Given the description of an element on the screen output the (x, y) to click on. 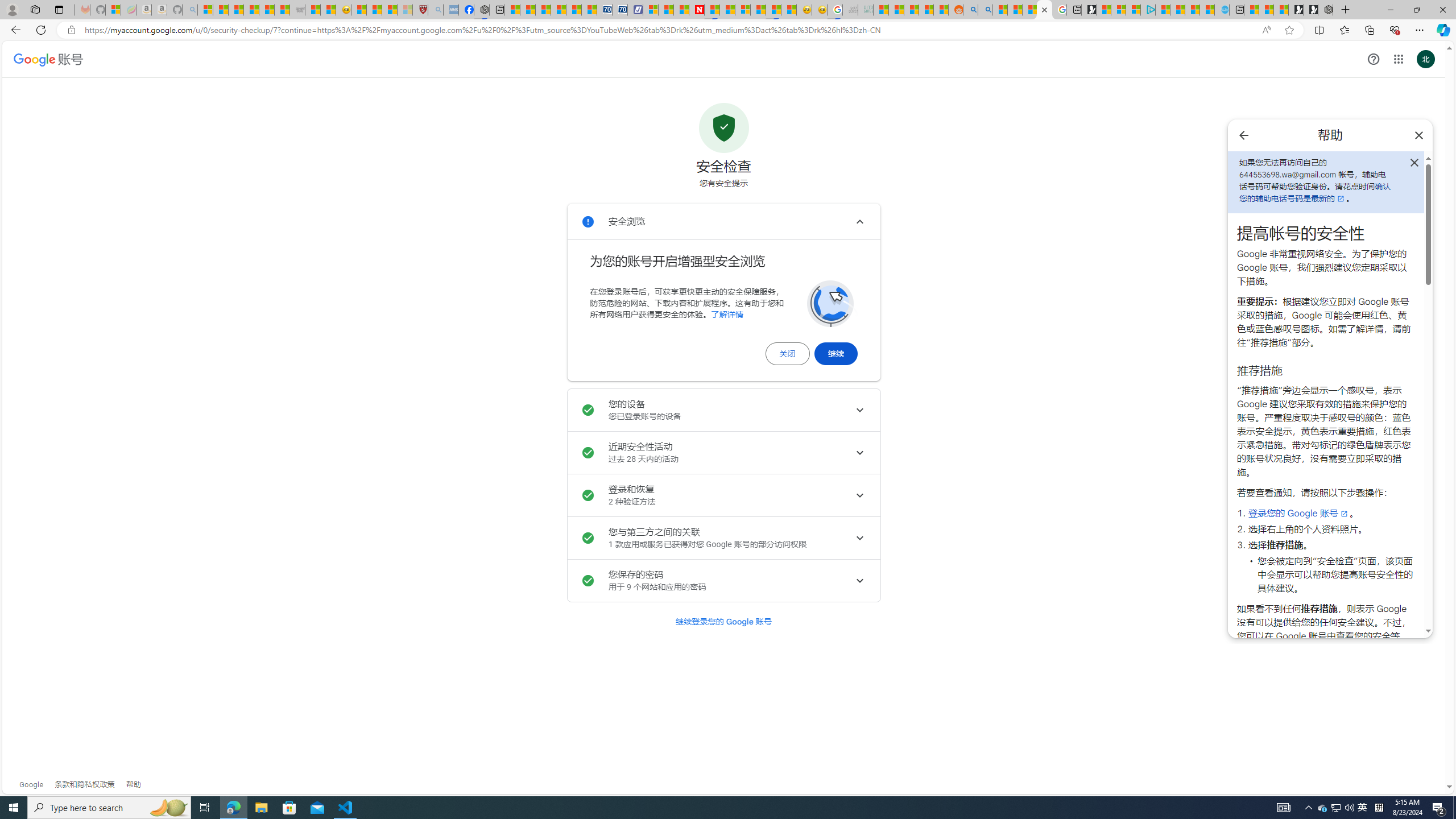
New Report Confirms 2023 Was Record Hot | Watch (266, 9)
Student Loan Update: Forgiveness Program Ends This Month (926, 9)
12 Popular Science Lies that Must be Corrected - Sleeping (405, 9)
Utah sues federal government - Search (984, 9)
